Given the description of an element on the screen output the (x, y) to click on. 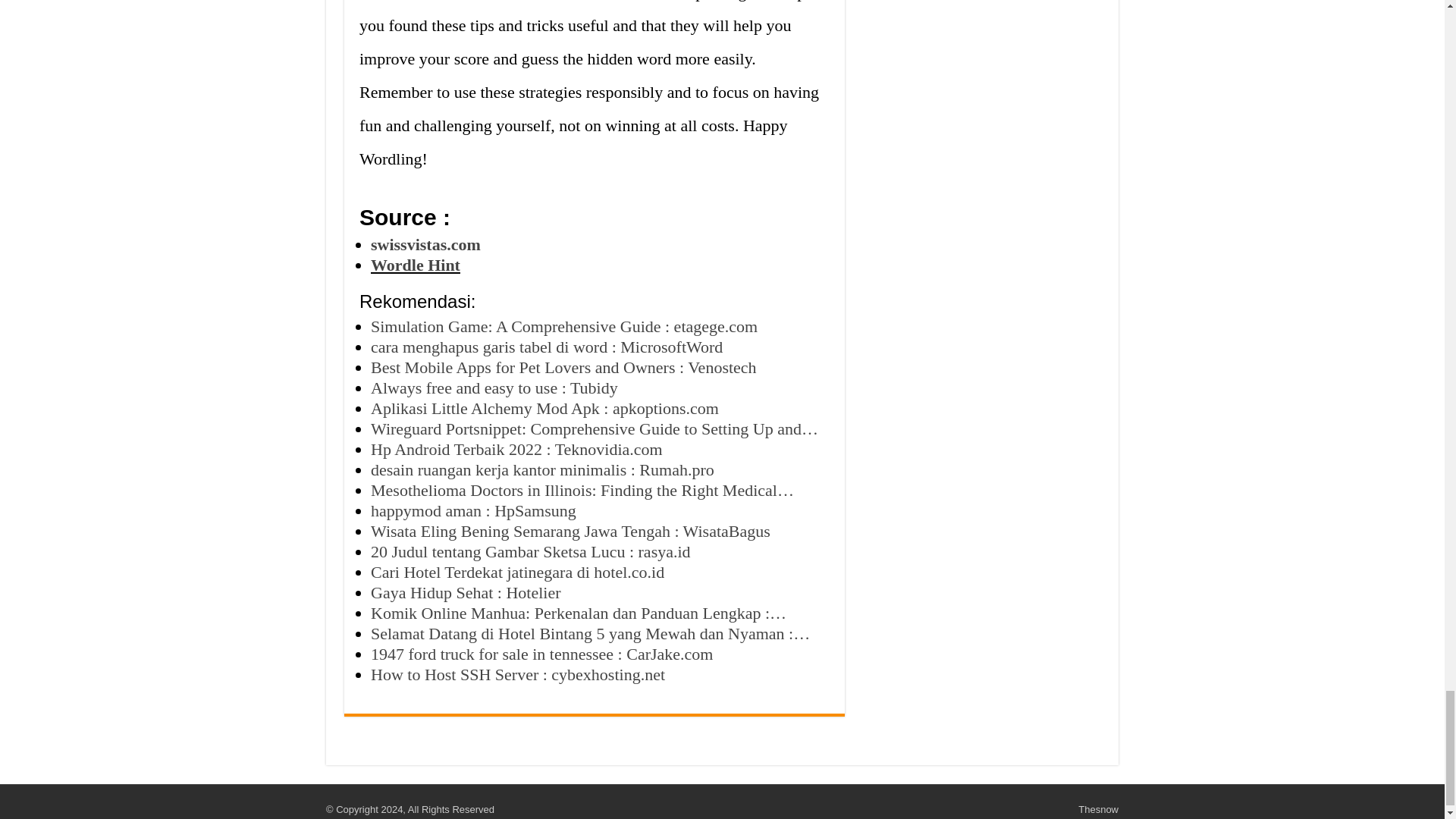
Hp Android Terbaik 2022 : Teknovidia.com (516, 448)
20 Judul tentang Gambar Sketsa Lucu : rasya.id (530, 551)
desain ruangan kerja kantor minimalis : Rumah.pro (542, 469)
happymod aman : HpSamsung (473, 510)
Always free and easy to use : Tubidy (494, 387)
swissvistas.com (425, 244)
Best Mobile Apps for Pet Lovers and Owners : Venostech (564, 366)
cara menghapus garis tabel di word : MicrosoftWord (546, 346)
Simulation Game: A Comprehensive Guide : etagege.com (564, 325)
Cari Hotel Terdekat jatinegara di hotel.co.id (517, 571)
